Given the description of an element on the screen output the (x, y) to click on. 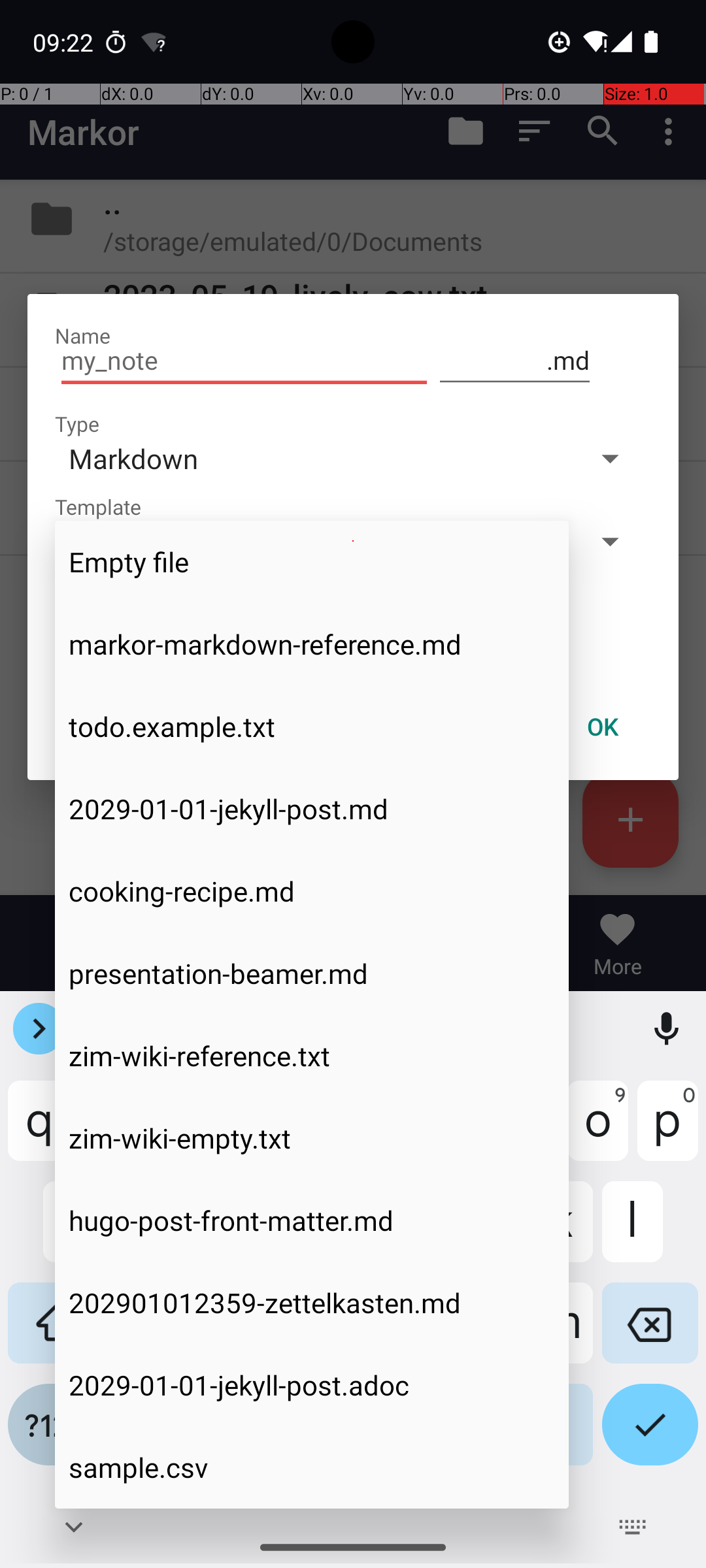
todo.example.txt Element type: android.widget.CheckedTextView (311, 726)
presentation-beamer.md Element type: android.widget.CheckedTextView (311, 973)
sample.csv Element type: android.widget.CheckedTextView (311, 1467)
09:22 Element type: android.widget.TextView (64, 41)
